Given the description of an element on the screen output the (x, y) to click on. 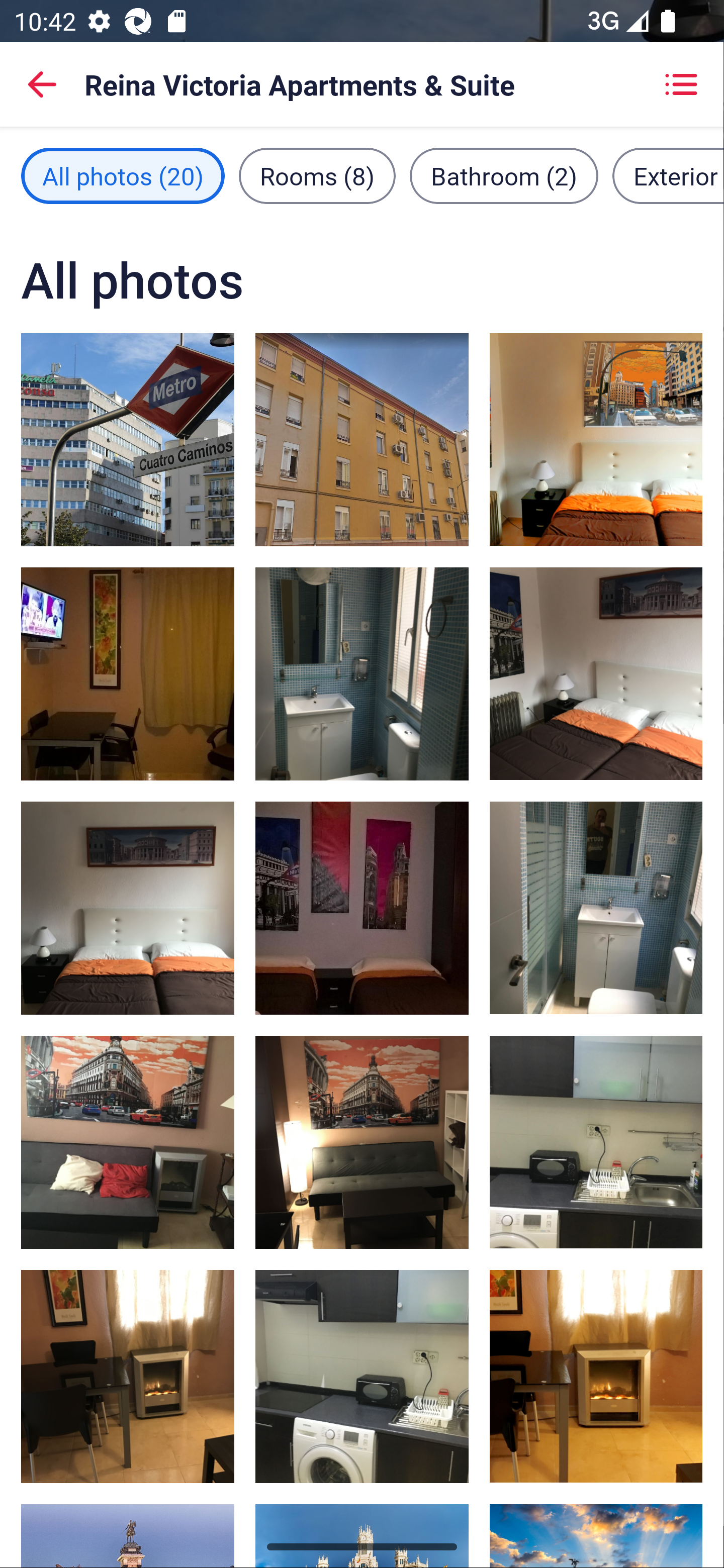
Back (42, 84)
Showing grid view (681, 84)
All photos filter, 20 images (122, 175)
Rooms filter, 8 images (317, 175)
Bathroom filter, 2 images (503, 175)
Exterior filter, 1 image (667, 175)
Exterior, image (127, 438)
Exterior, image (361, 438)
Flat-screen TV, image (127, 673)
Shower, towels, image (361, 673)
Shower, towels, image (595, 907)
Flat-screen TV, image (127, 1142)
Flat-screen TV, image (361, 1142)
Flat-screen TV, image (127, 1376)
Flat-screen TV, image (595, 1376)
